Given the description of an element on the screen output the (x, y) to click on. 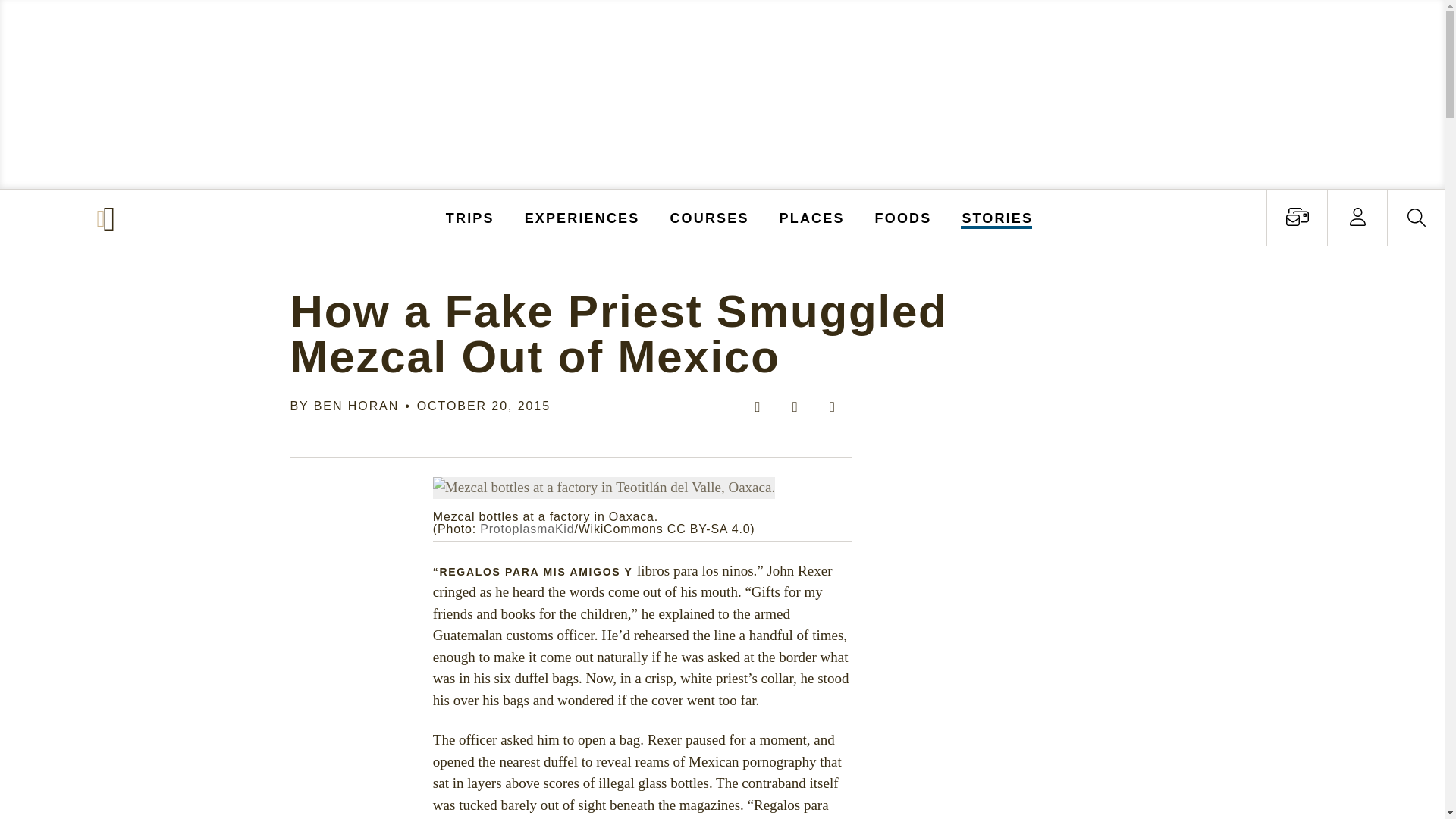
TRIPS (469, 217)
PLACES (812, 217)
Atlas Obscura (107, 218)
EXPERIENCES (582, 217)
COURSES (707, 217)
